Given the description of an element on the screen output the (x, y) to click on. 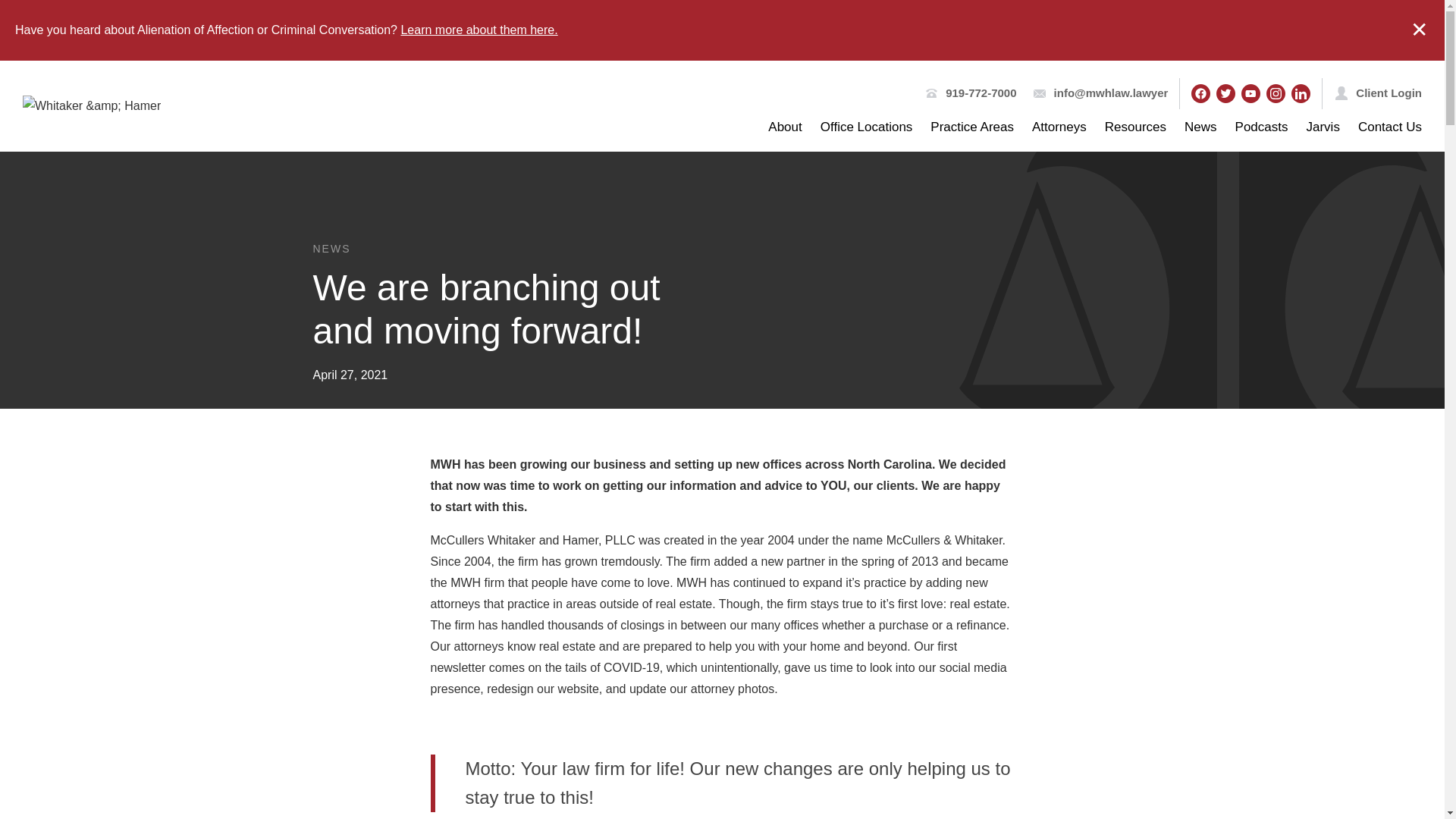
Client Login (1388, 92)
919-772-7000 (980, 92)
About (785, 127)
Learn more about them here. (478, 29)
Jarvis (1322, 127)
Contact Us (1390, 127)
Attorneys (1059, 127)
Resources (1135, 127)
News (1201, 127)
Practice Areas (971, 127)
